Given the description of an element on the screen output the (x, y) to click on. 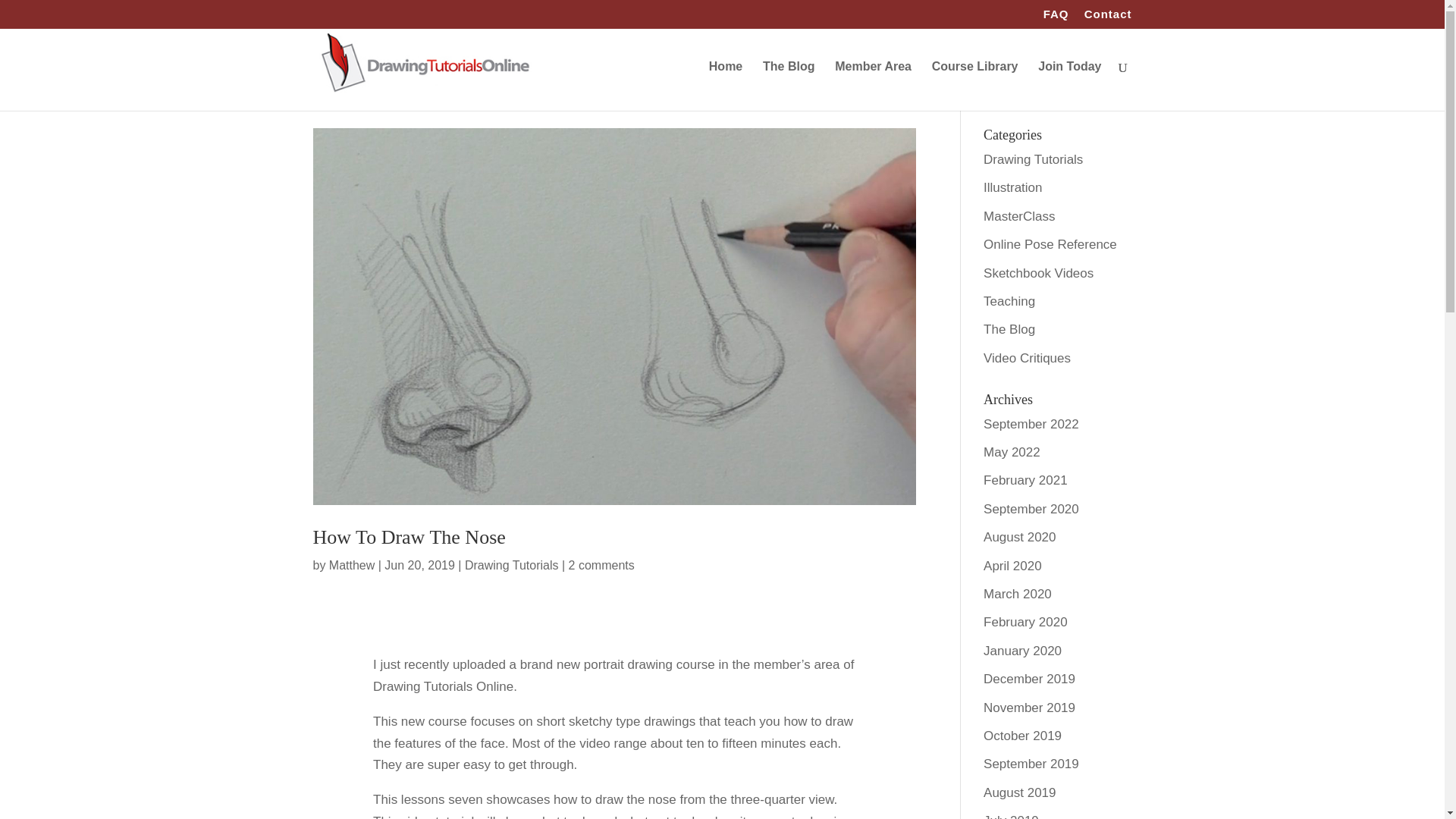
The Blog (1009, 329)
February 2021 (1025, 480)
2 comments (601, 564)
September 2022 (1031, 423)
The Blog (787, 85)
Drawing Tutorials (1033, 159)
Video Critiques (1027, 358)
Posts by Matthew (351, 564)
Illustration (1013, 187)
Online Pose Reference (1050, 244)
